Given the description of an element on the screen output the (x, y) to click on. 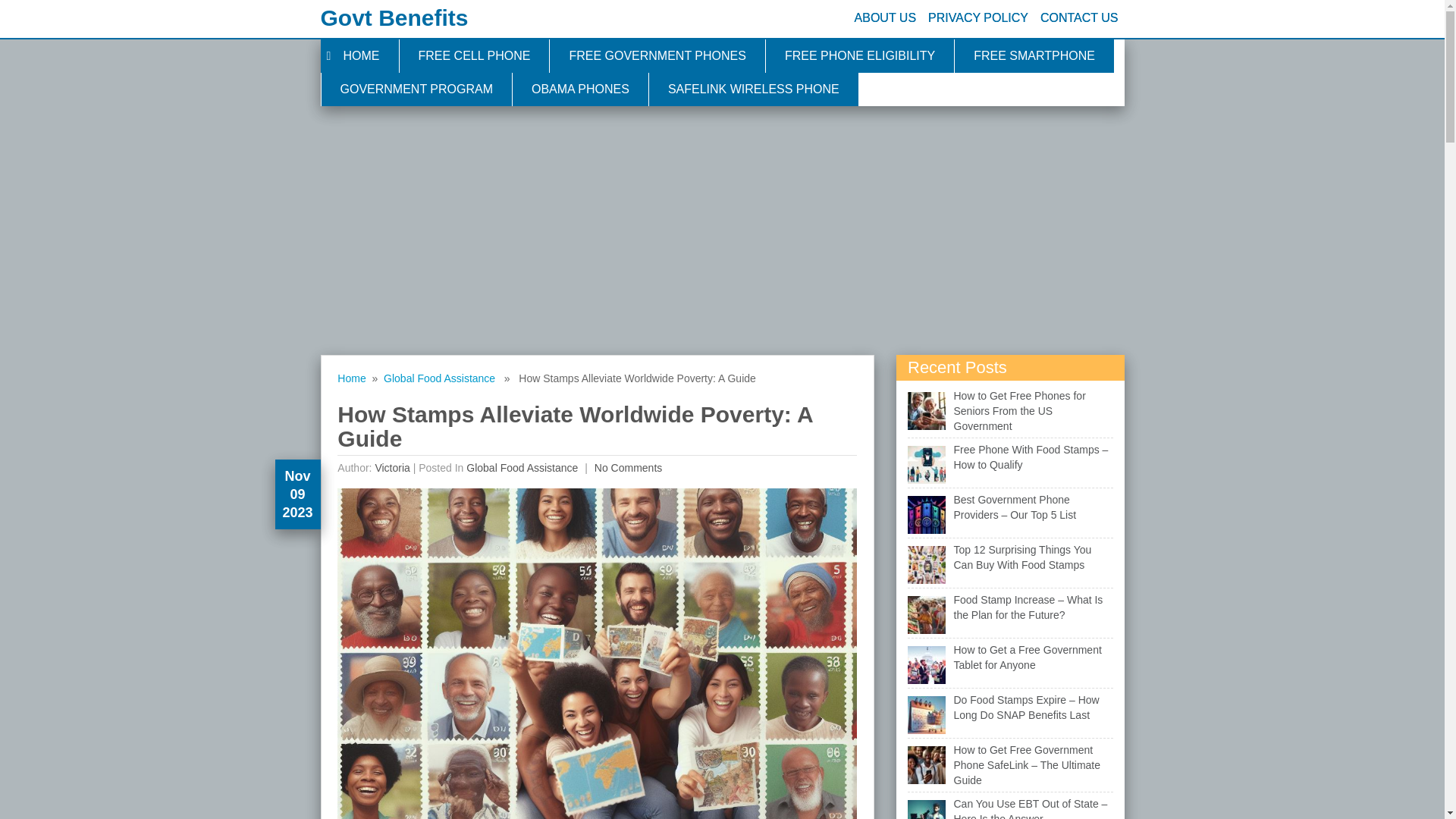
How to Get a Free Government Tablet for Anyone (1027, 656)
Home (351, 378)
Global Food Assistance (521, 467)
Top 12 Surprising Things You Can Buy With Food Stamps (1022, 556)
Victoria (391, 467)
ABOUT US (885, 18)
Posts by Victoria (391, 467)
FREE GOVERNMENT PHONES (656, 55)
HOME (358, 55)
FREE PHONE ELIGIBILITY (859, 55)
PRIVACY POLICY (977, 18)
CONTACT US (1078, 18)
SAFELINK WIRELESS PHONE (753, 89)
How to Get Free Phones for Seniors From the US Government (1019, 410)
